Given the description of an element on the screen output the (x, y) to click on. 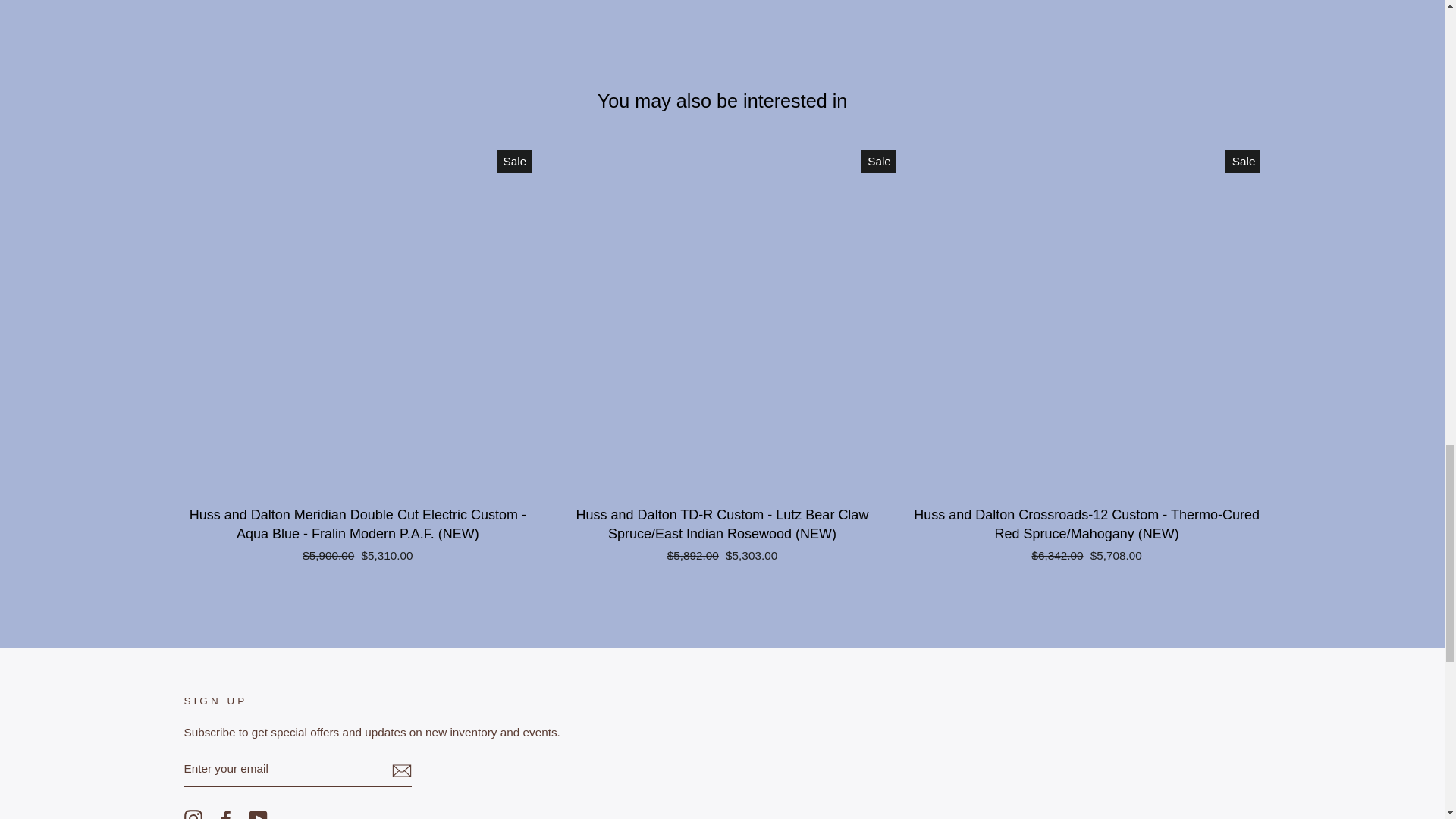
Organic Sounds Select Guitars on Facebook (225, 814)
Organic Sounds Select Guitars on YouTube (257, 814)
Organic Sounds Select Guitars on Instagram (192, 814)
